Given the description of an element on the screen output the (x, y) to click on. 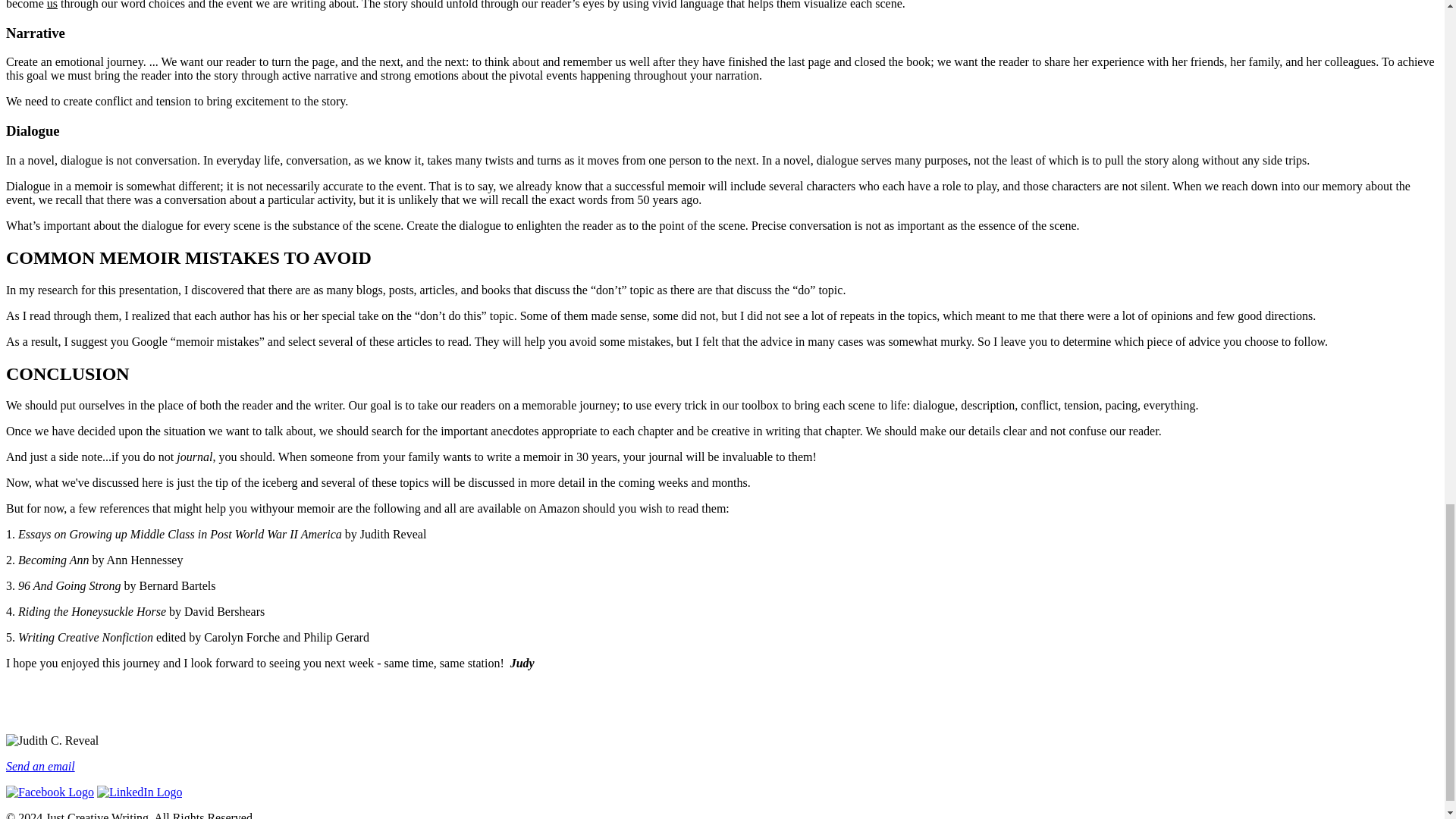
Send an email (40, 766)
Visit me on Facebook (49, 791)
Visit me on LinkedIn (139, 791)
